Given the description of an element on the screen output the (x, y) to click on. 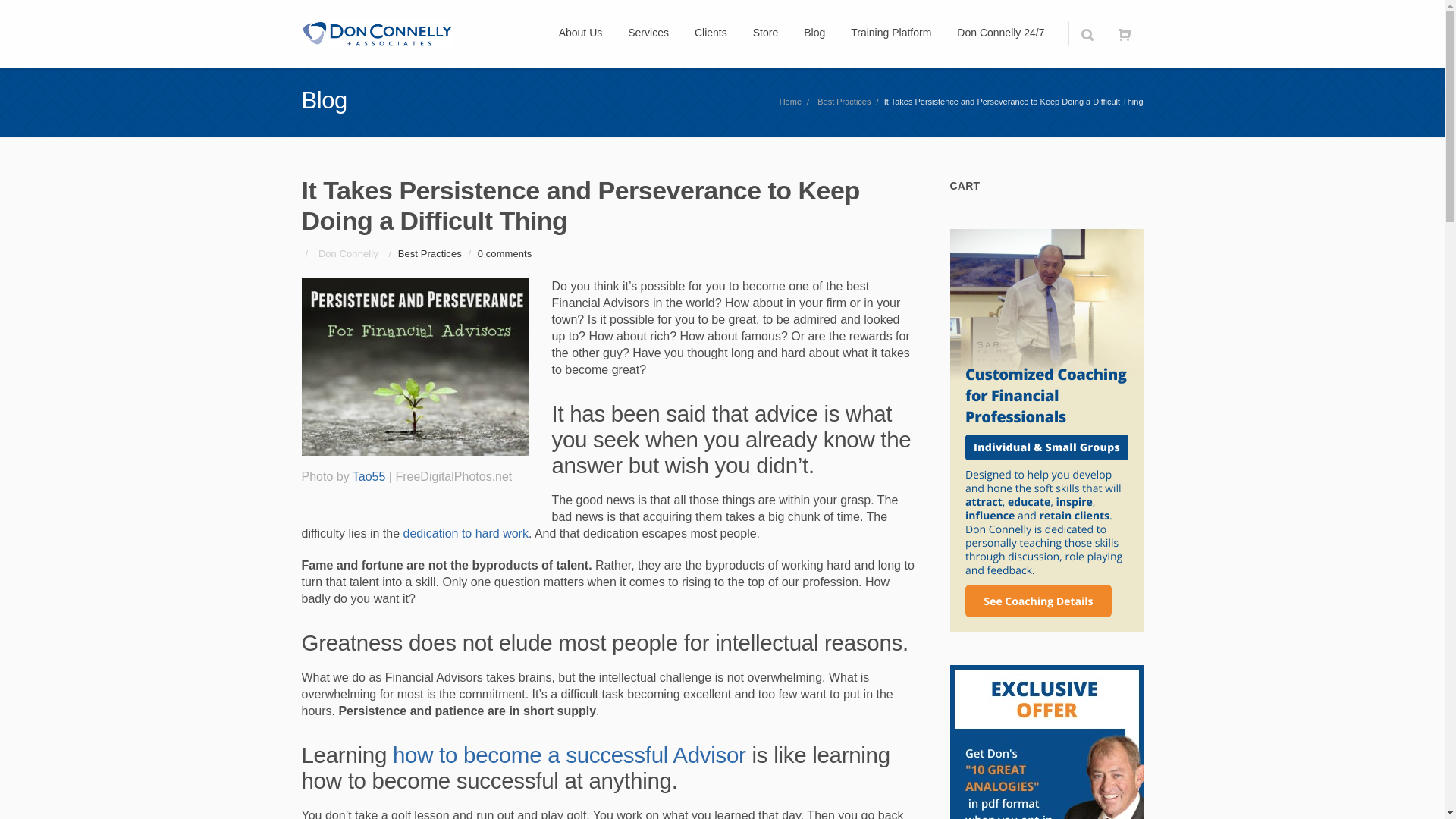
Best Practices (843, 101)
Cart (1123, 33)
how to become a successful Advisor (569, 754)
Best Practices (429, 253)
Search (1086, 33)
how to become a successful Advisor (569, 754)
0 comments (504, 253)
dedication to hard work (465, 533)
Tao55 (368, 476)
Home (790, 101)
dedication to hard work (465, 533)
Training Platform (890, 33)
